Given the description of an element on the screen output the (x, y) to click on. 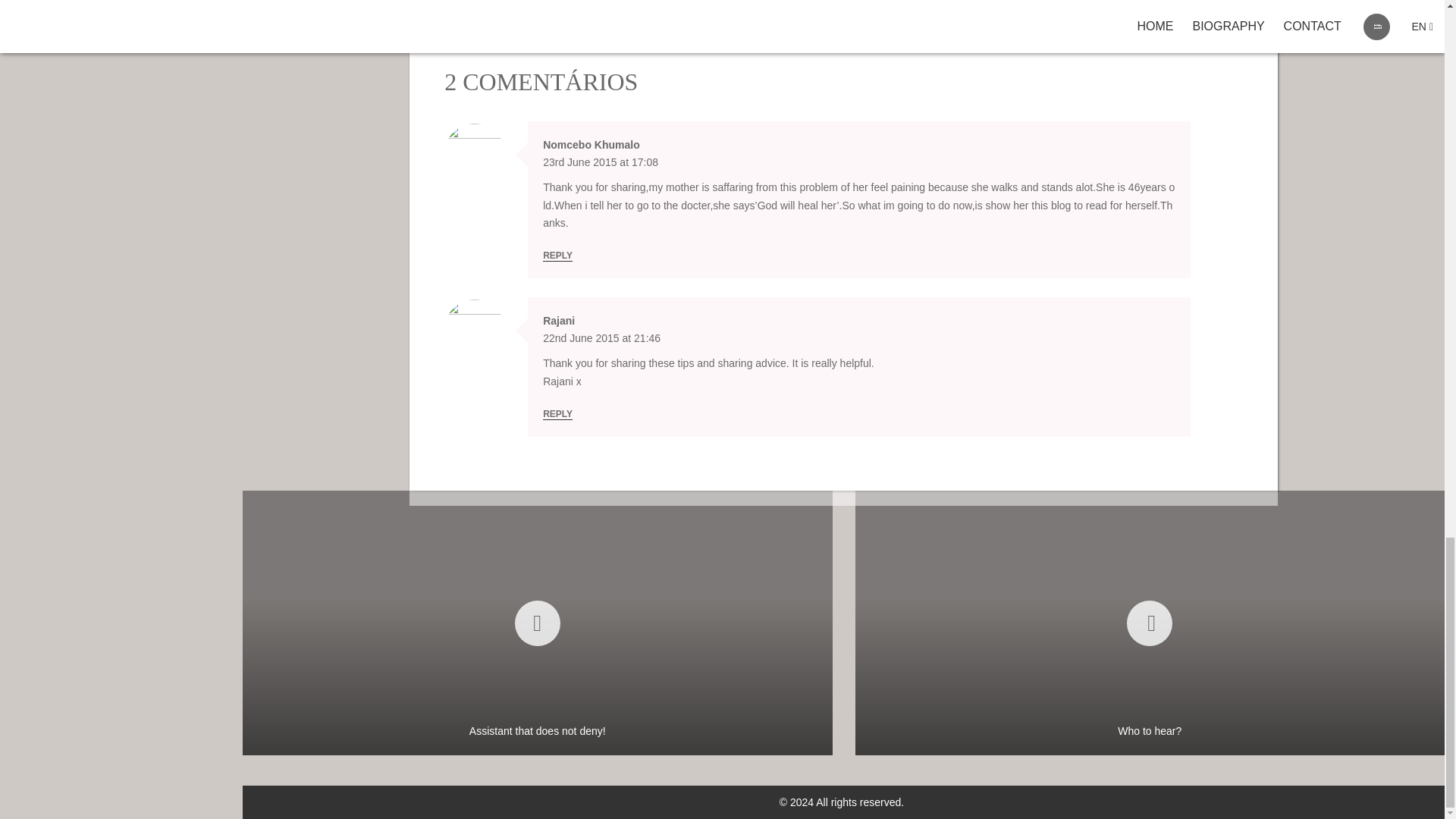
Post Comment (511, 2)
